Given the description of an element on the screen output the (x, y) to click on. 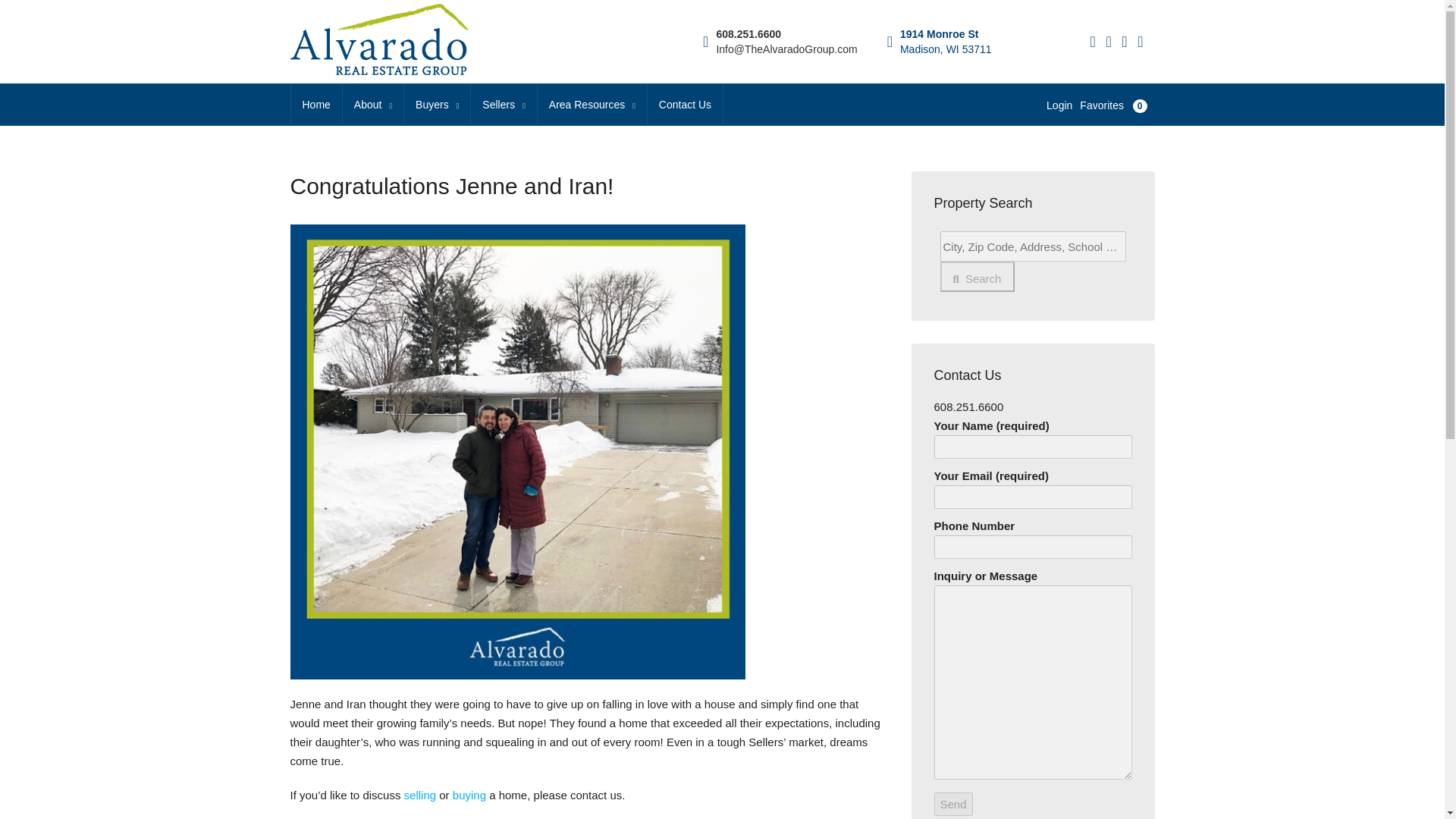
Send (953, 803)
About (372, 105)
608.251.6600 (748, 33)
Home (316, 104)
